Given the description of an element on the screen output the (x, y) to click on. 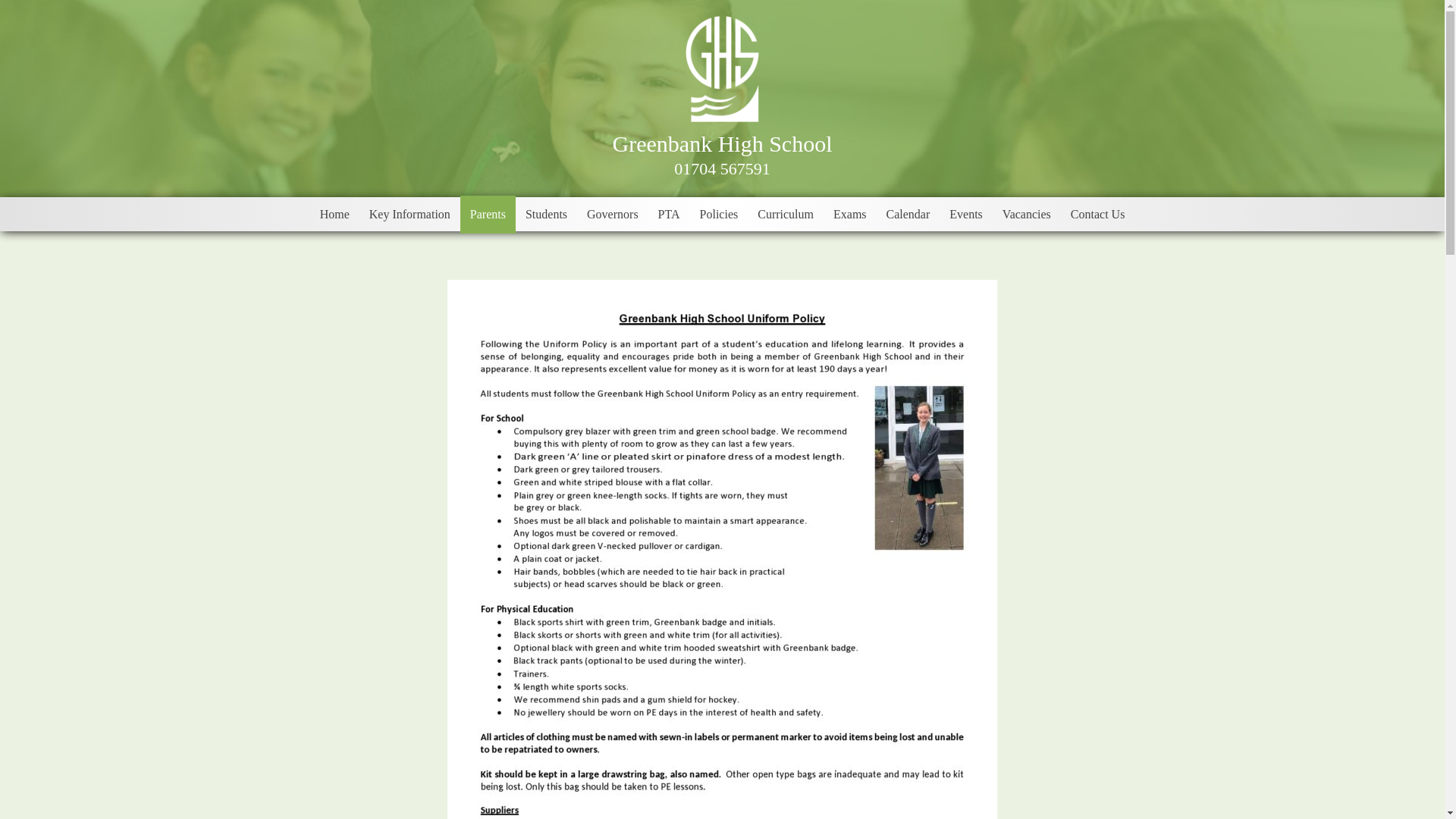
Key Information (409, 214)
01704 567591 (722, 168)
Parents (487, 214)
Home (334, 214)
